Given the description of an element on the screen output the (x, y) to click on. 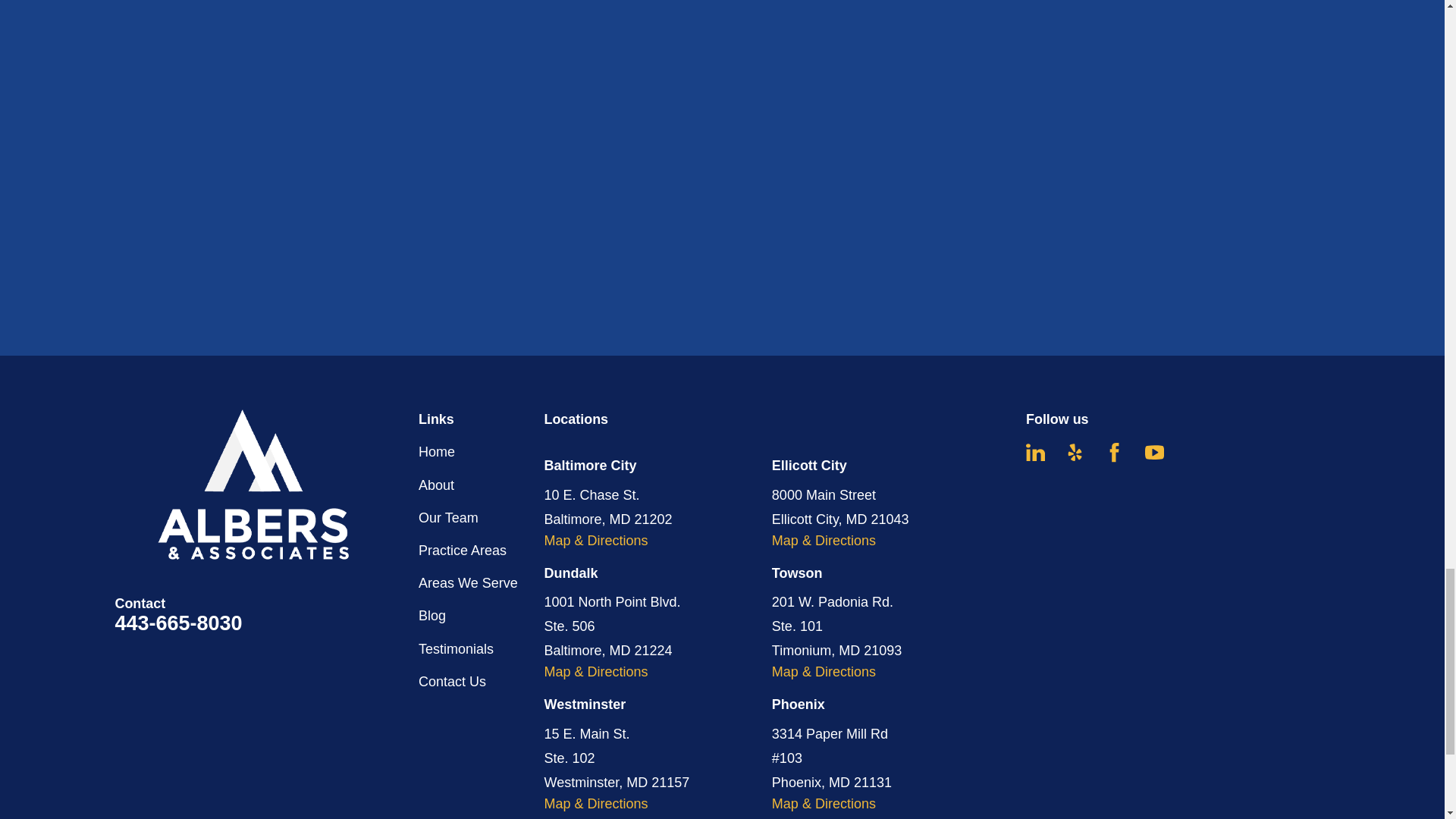
Yelp (1074, 452)
LinkedIn (1035, 452)
YouTube (1153, 452)
Home (266, 484)
Facebook (1114, 452)
